Given the description of an element on the screen output the (x, y) to click on. 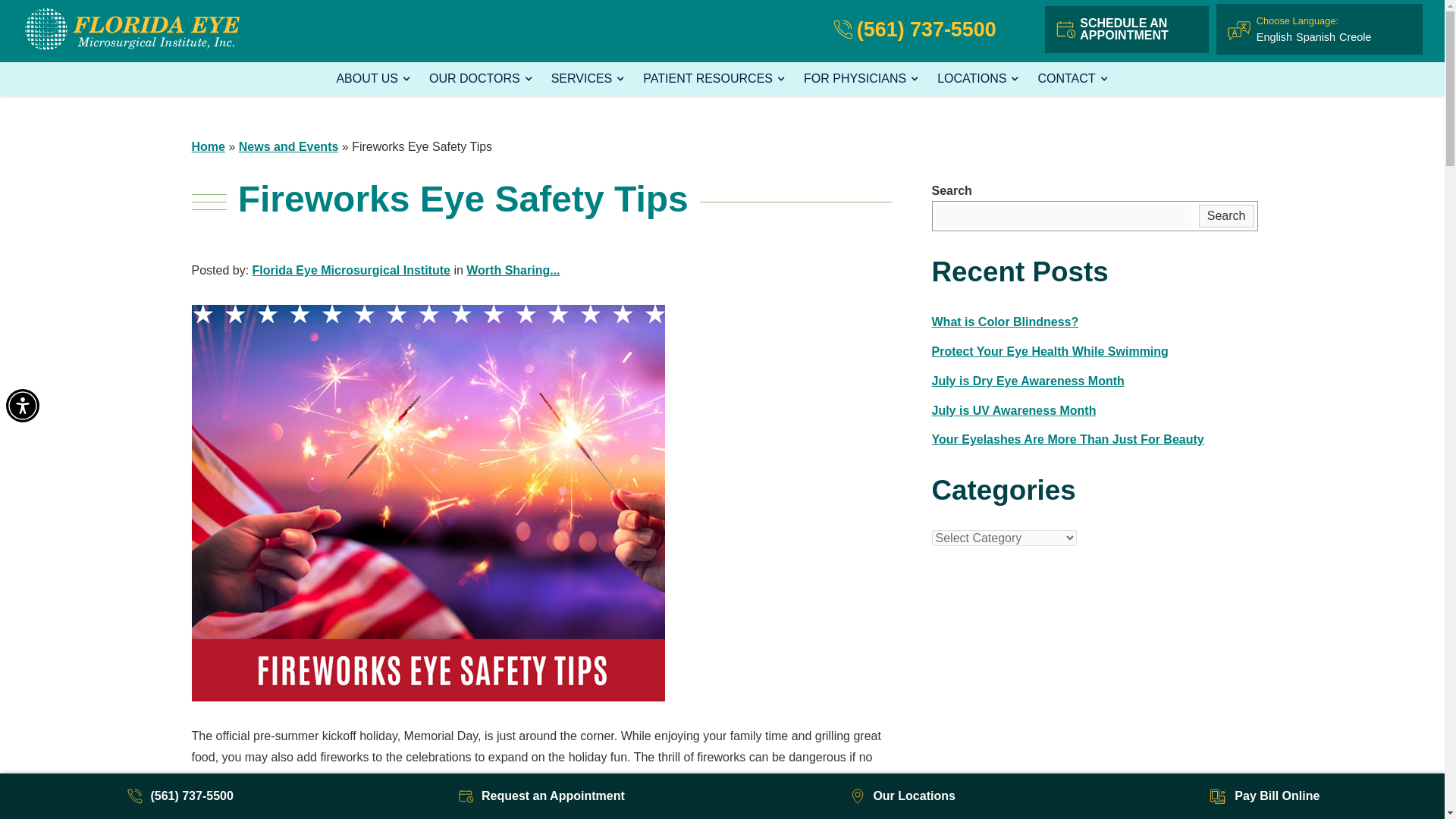
English (1274, 37)
English (1274, 37)
Creole (1355, 37)
Accessibility Menu (22, 405)
Go to homepage (134, 29)
SCHEDULE AN APPOINTMENT (1126, 29)
Spanish (1315, 37)
Haitian Creole (1355, 37)
ABOUT US (373, 78)
OUR DOCTORS (480, 78)
PATIENT RESOURCES (713, 78)
Spanish (1315, 37)
SERVICES (587, 78)
